Given the description of an element on the screen output the (x, y) to click on. 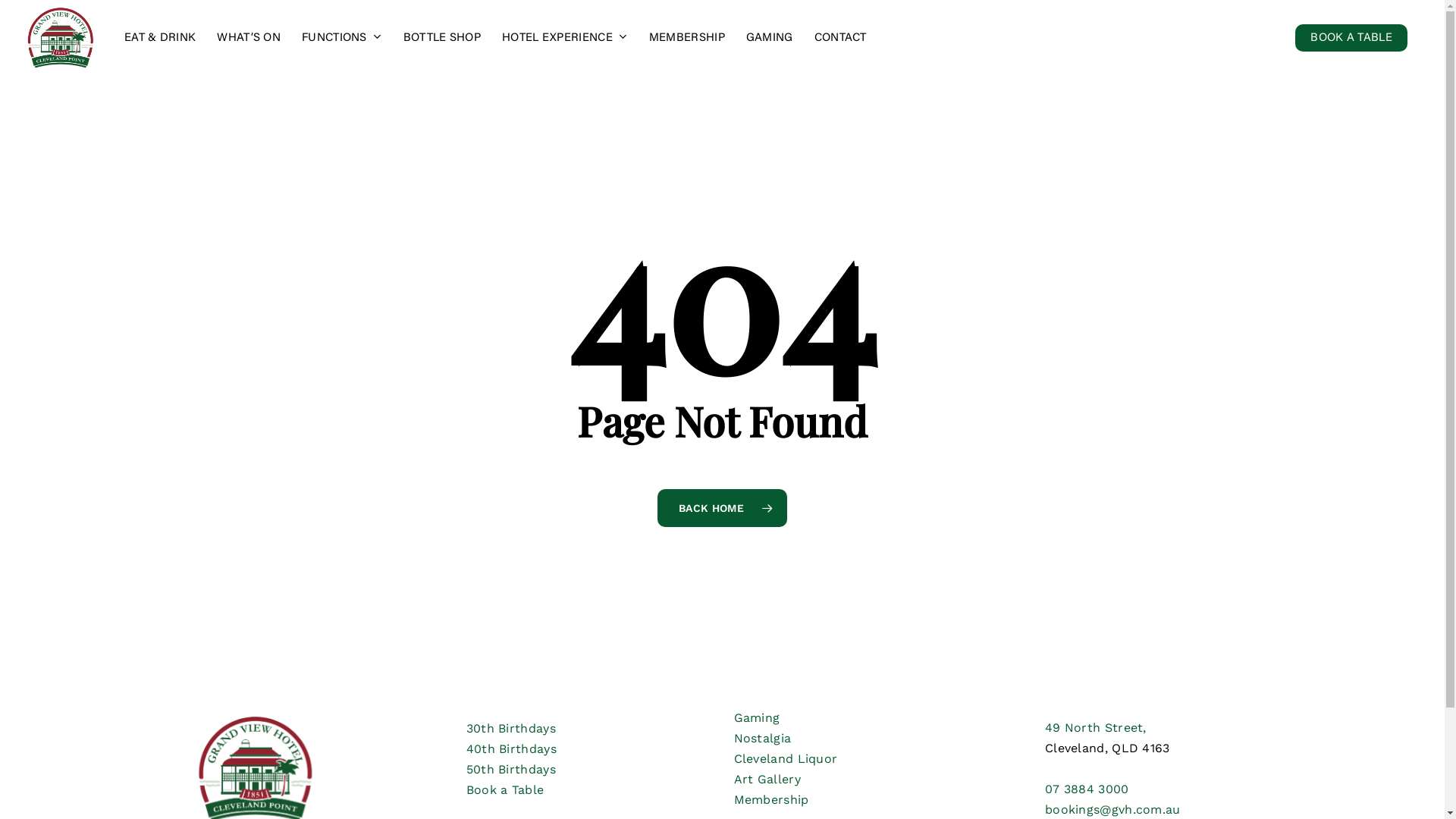
Nostalgia Element type: text (762, 738)
49 North Street, Element type: text (1095, 727)
FUNCTIONS Element type: text (341, 37)
MEMBERSHIP Element type: text (686, 37)
30th Birthdays Element type: text (510, 727)
GAMING Element type: text (769, 37)
bookings@gvh.com.au Element type: text (1112, 809)
Cleveland Liquor Element type: text (785, 758)
HOTEL EXPERIENCE Element type: text (564, 37)
Membership Element type: text (771, 799)
BOTTLE SHOP Element type: text (441, 37)
07 3884 3000 Element type: text (1086, 788)
40th Birthdays Element type: text (511, 748)
Gaming Element type: text (757, 717)
EAT & DRINK Element type: text (159, 37)
Art Gallery Element type: text (767, 778)
BACK HOME Element type: text (722, 507)
50th Birthdays Element type: text (510, 769)
Book a Table Element type: text (505, 789)
BOOK A TABLE Element type: text (1351, 37)
CONTACT Element type: text (840, 37)
